Given the description of an element on the screen output the (x, y) to click on. 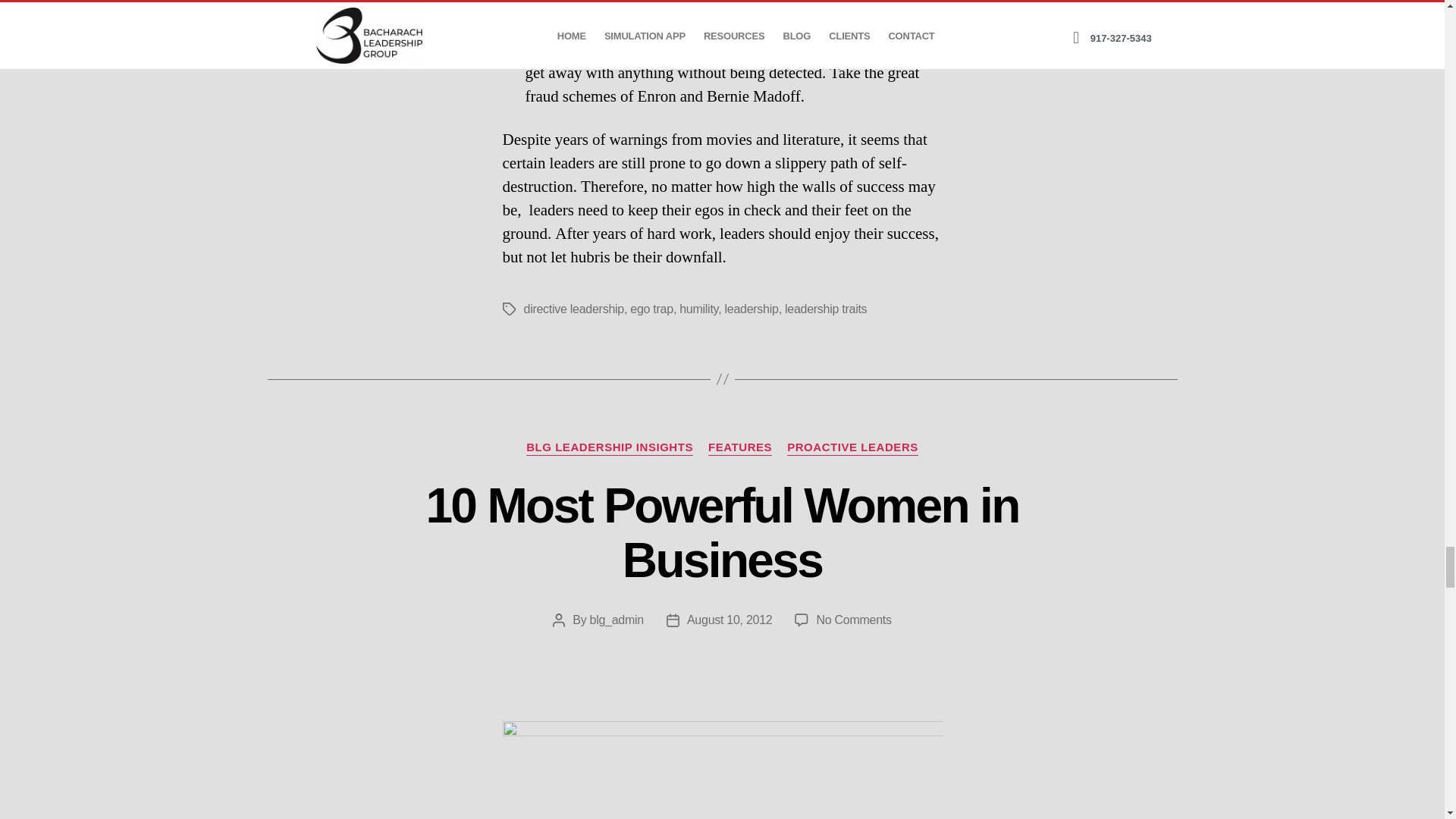
Cornell Extension women (722, 769)
